Given the description of an element on the screen output the (x, y) to click on. 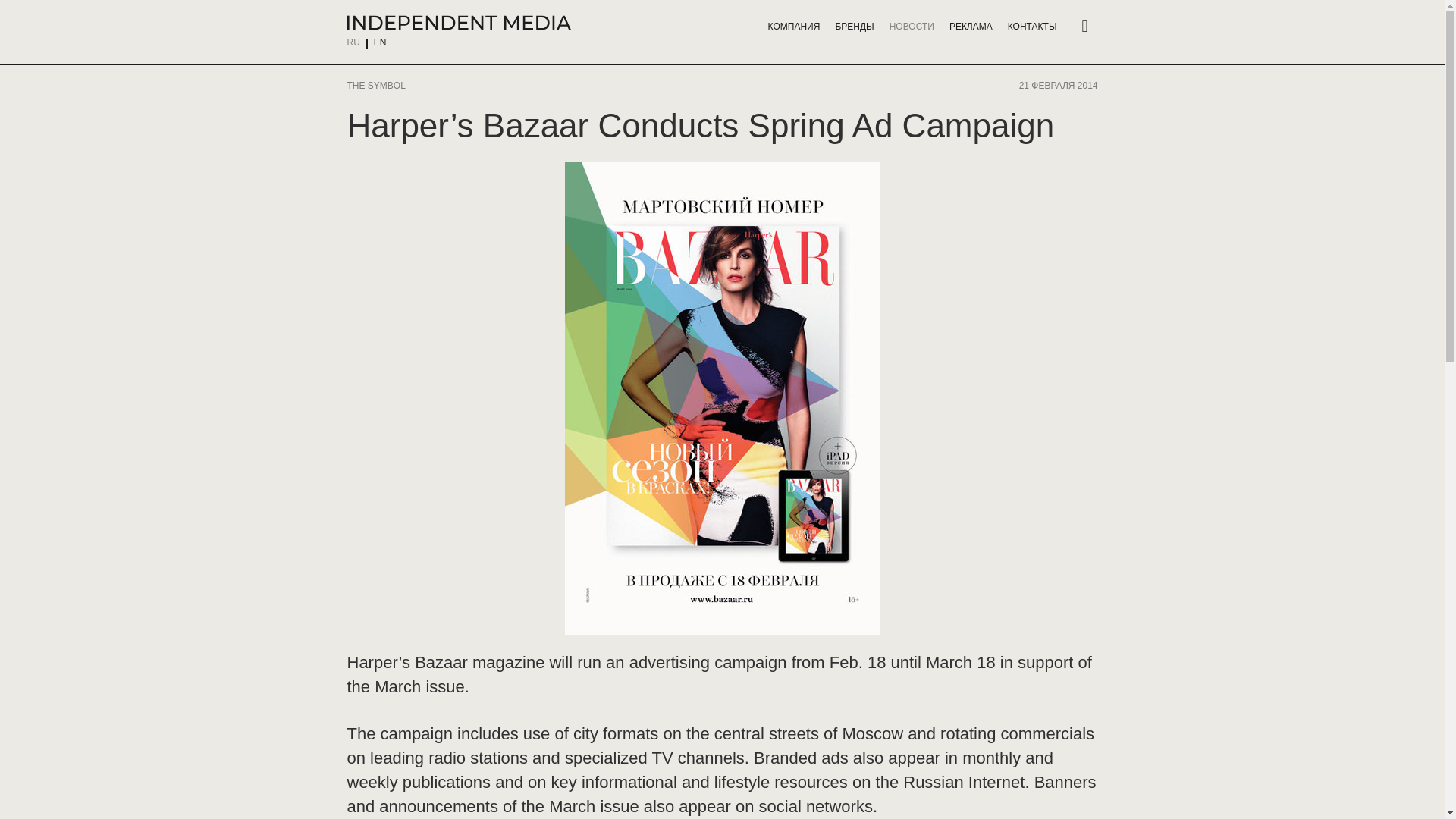
Independent Media (458, 22)
EN (380, 42)
THE SYMBOL  (377, 85)
